Given the description of an element on the screen output the (x, y) to click on. 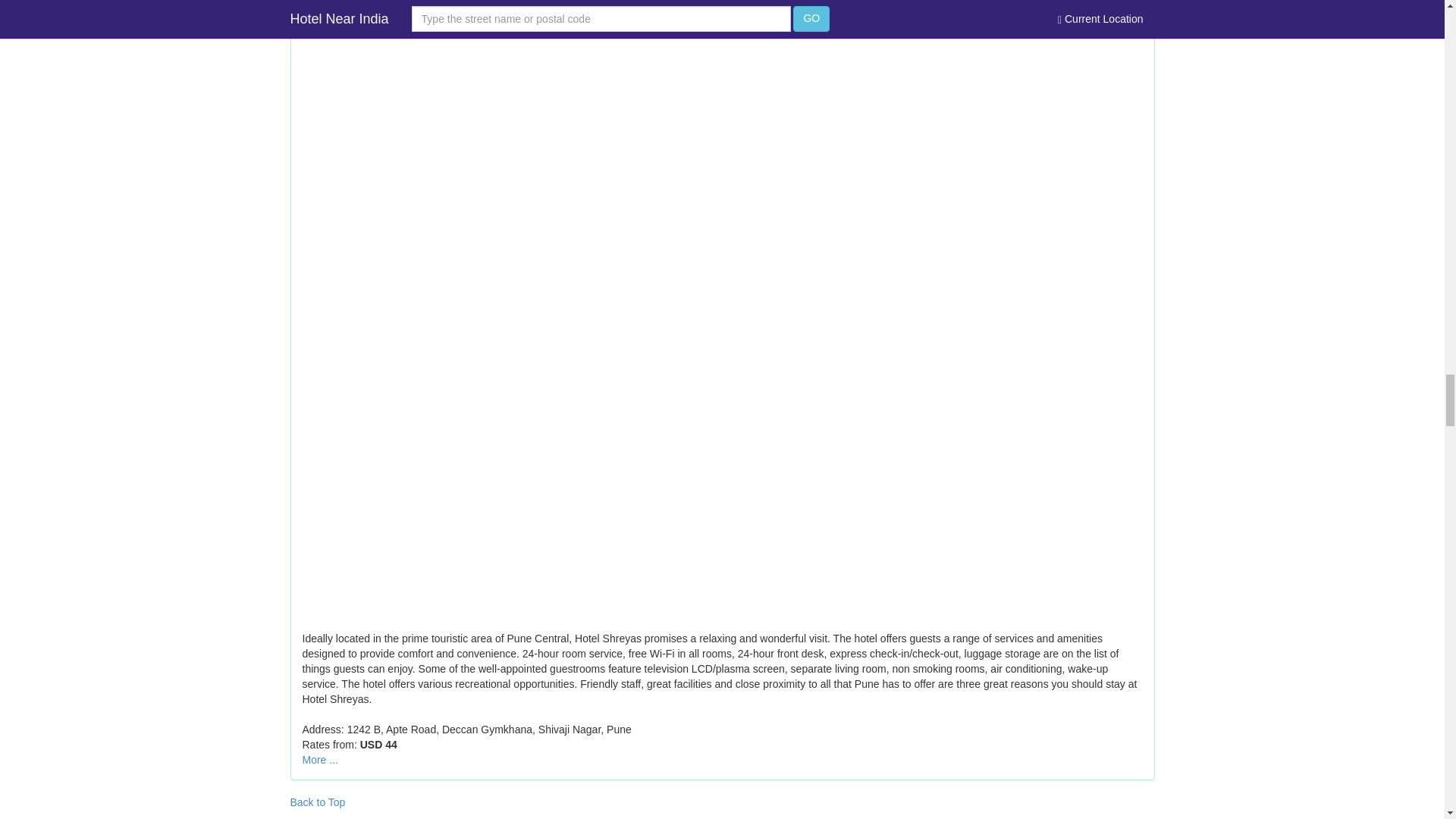
More ... (319, 759)
Back to Top (317, 802)
